Given the description of an element on the screen output the (x, y) to click on. 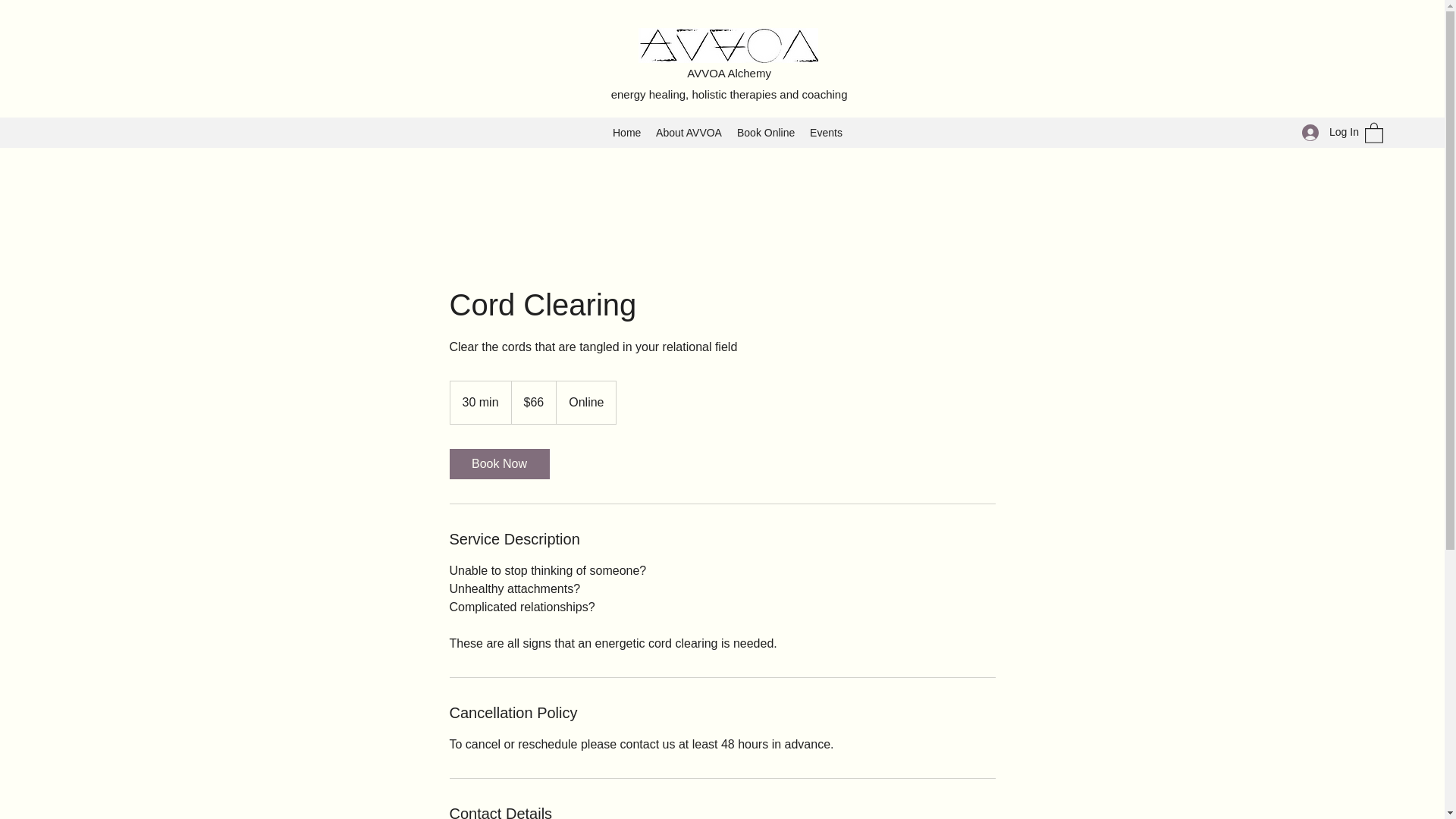
Events (826, 132)
Book Now (498, 463)
Book Online (765, 132)
Home (626, 132)
Log In (1325, 131)
About AVVOA (688, 132)
